Given the description of an element on the screen output the (x, y) to click on. 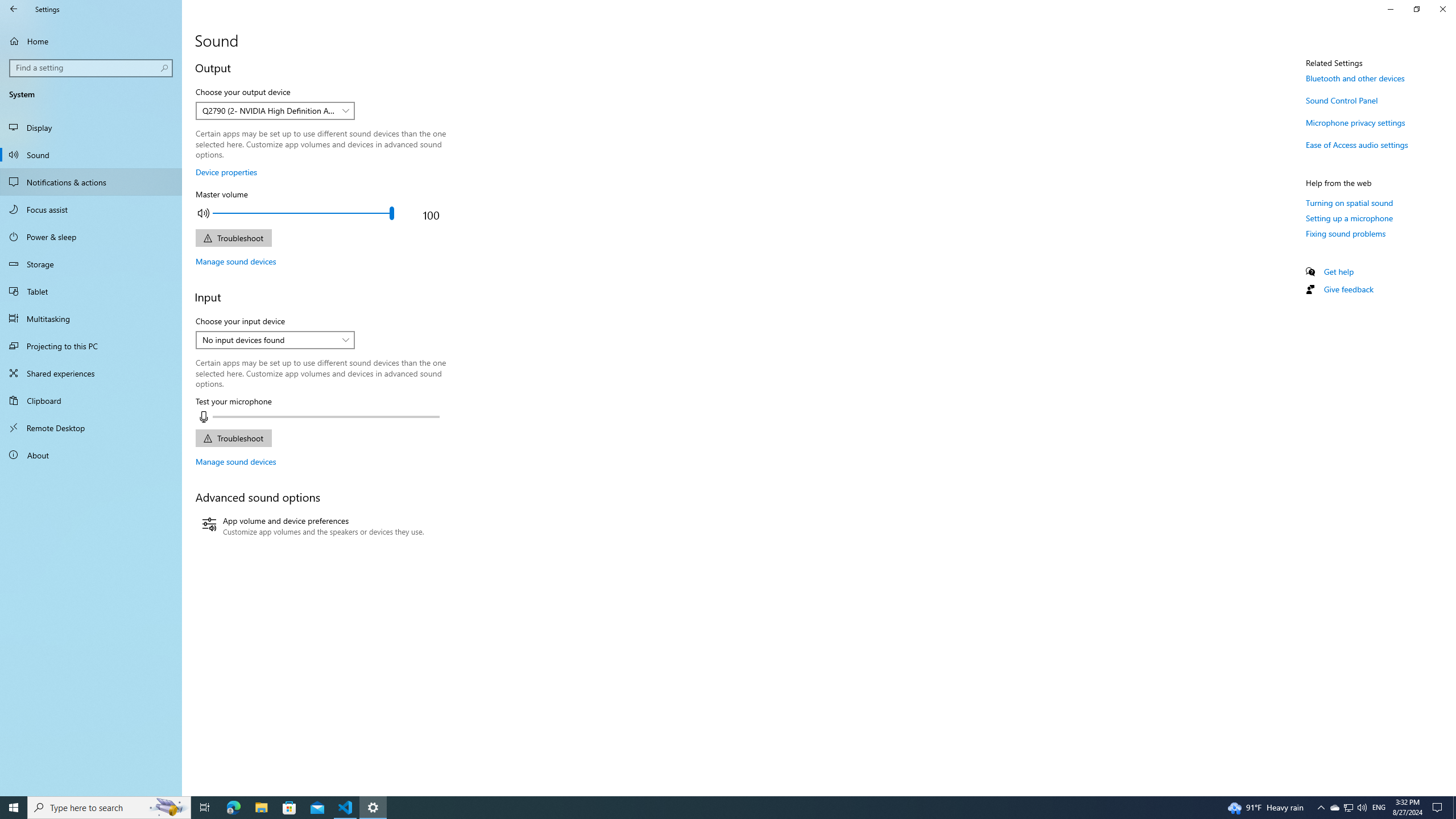
Setting up a microphone (1349, 217)
Shared experiences (91, 372)
Task View (204, 807)
Search highlights icon opens search home window (167, 807)
Manage sound devices (235, 461)
Choose your input device (275, 339)
Input device troubleshoot (233, 438)
Bluetooth and other devices (1355, 77)
Visual Studio Code - 1 running window (345, 807)
Show desktop (1454, 807)
Minimize Settings (1390, 9)
Ease of Access audio settings (1356, 144)
